Given the description of an element on the screen output the (x, y) to click on. 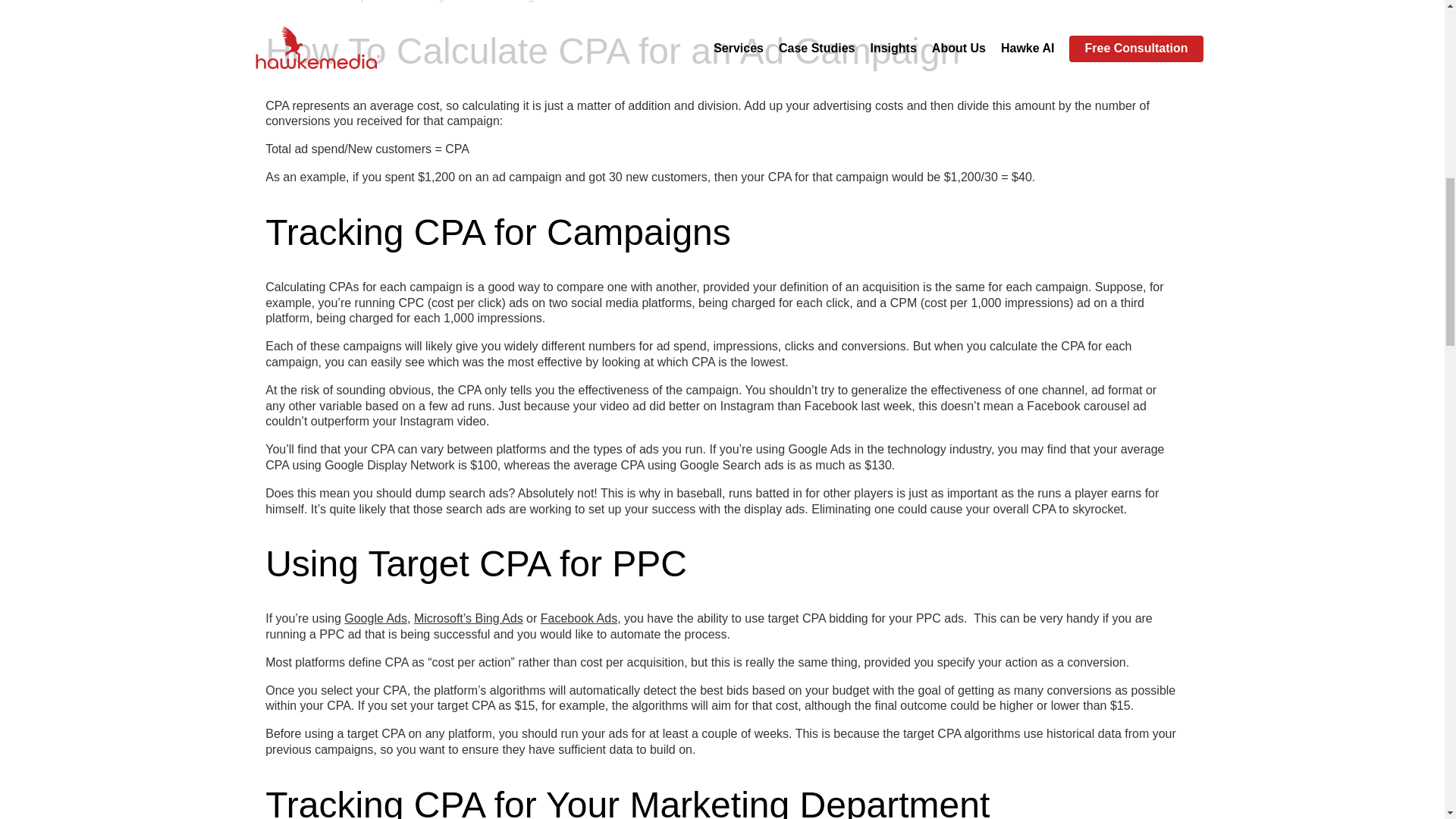
Facebook Ads (578, 617)
Google Ads (375, 617)
